Given the description of an element on the screen output the (x, y) to click on. 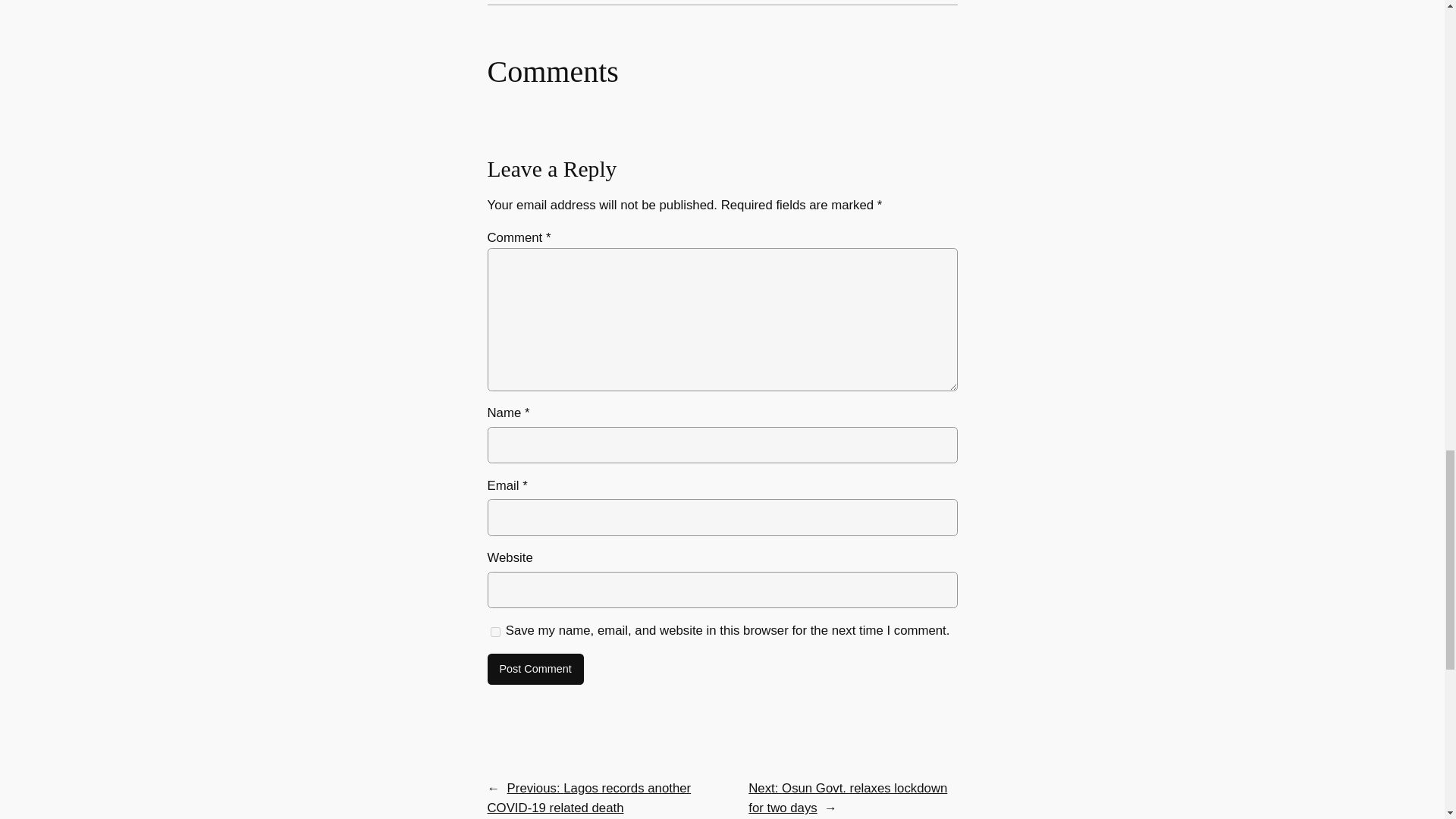
Next: Osun Govt. relaxes lockdown for two days (847, 797)
Previous: Lagos records another COVID-19 related death (588, 797)
Post Comment (534, 669)
Post Comment (534, 669)
